Given the description of an element on the screen output the (x, y) to click on. 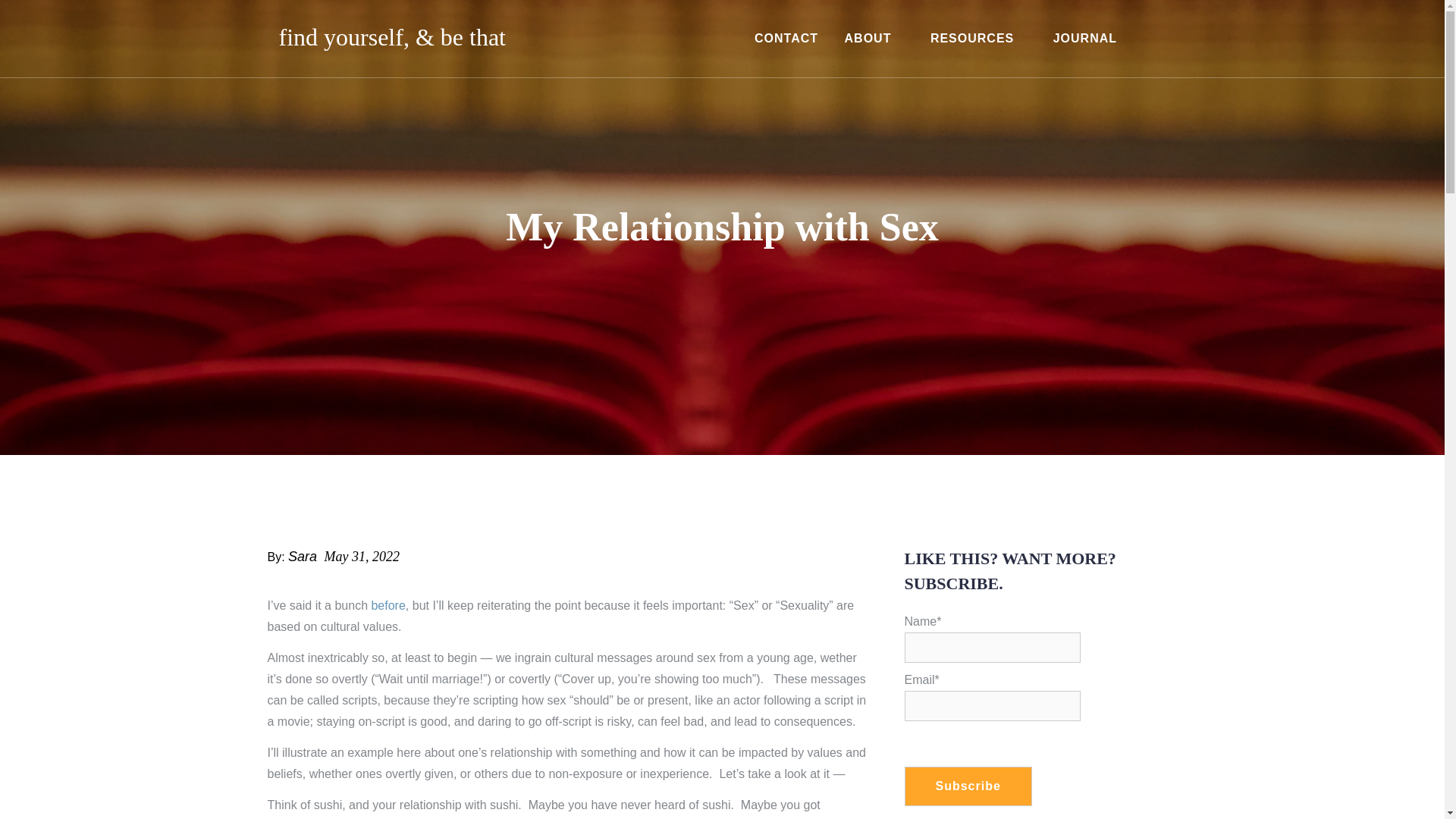
JOURNAL (1085, 38)
Subscribe (967, 785)
Sara (302, 556)
CONTACT (785, 38)
before (387, 604)
May 31, 2022 (361, 556)
Subscribe (967, 785)
ABOUT (873, 38)
RESOURCES (978, 38)
